Given the description of an element on the screen output the (x, y) to click on. 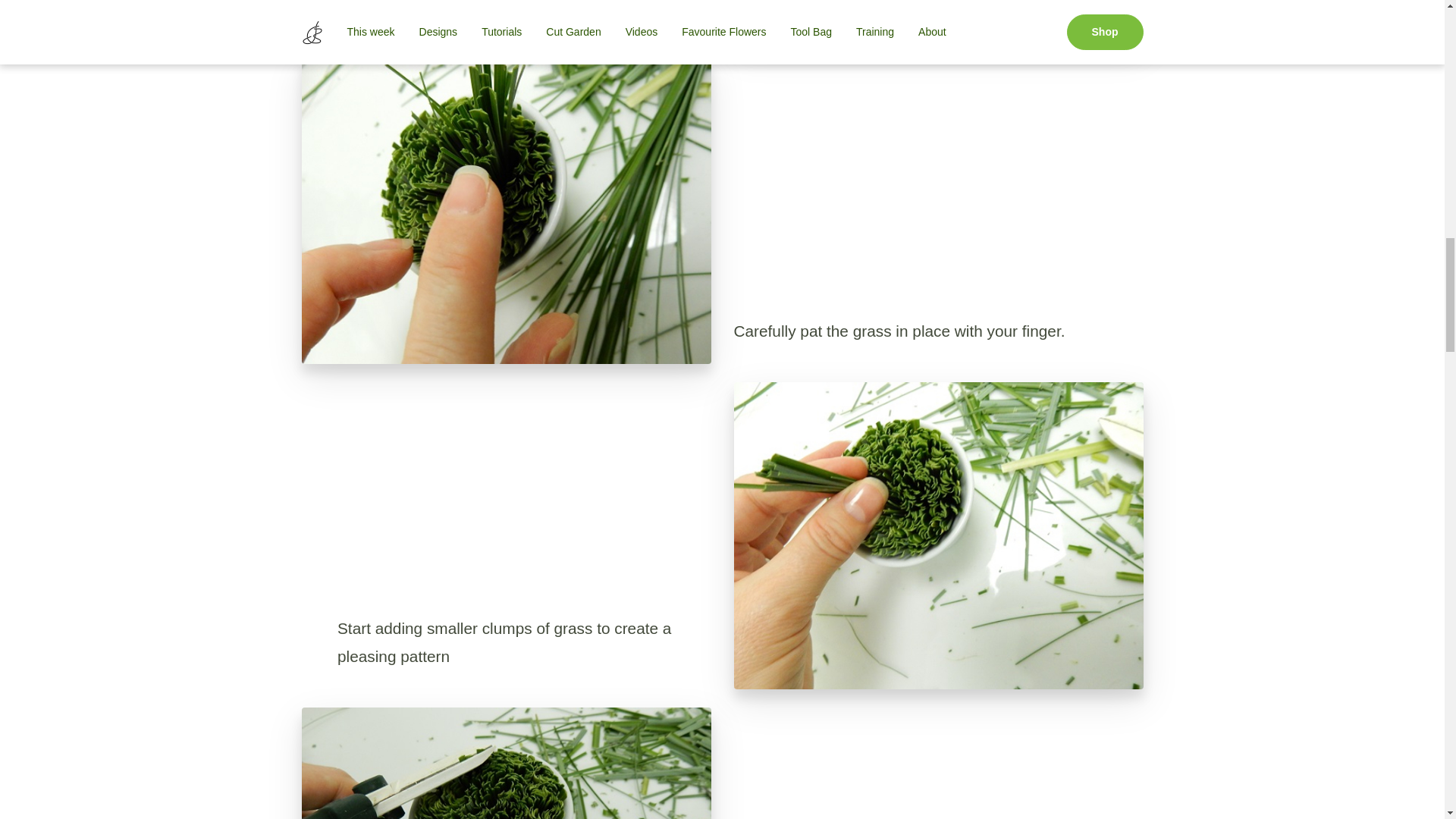
Add another hand full (937, 19)
Carefully pat the grass in place with your finger. (506, 209)
Trim away any stands of grass (506, 763)
